Given the description of an element on the screen output the (x, y) to click on. 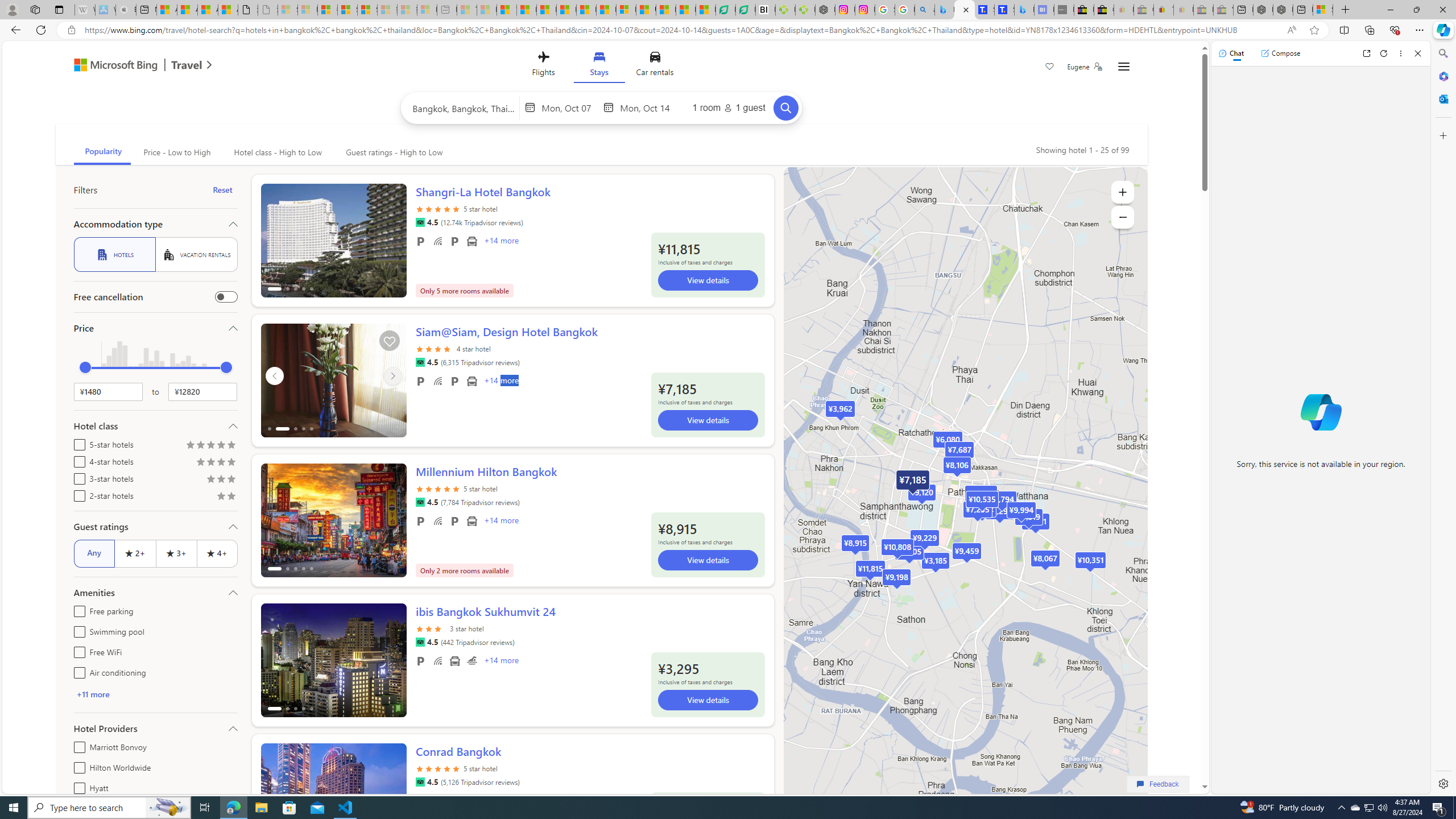
Press Room - eBay Inc. - Sleeping (1203, 9)
Guest ratings (154, 526)
Sign in to your Microsoft account - Sleeping (287, 9)
star rating (437, 774)
Flights (542, 65)
Popularity (101, 152)
+11 more (154, 694)
Hyatt (76, 786)
VACATION RENTALS (196, 254)
ScrollLeft (273, 795)
Microsoft Bing Travel - Stays in Bangkok, Bangkok, Thailand (964, 9)
Top Stories - MSN - Sleeping (466, 9)
